Given the description of an element on the screen output the (x, y) to click on. 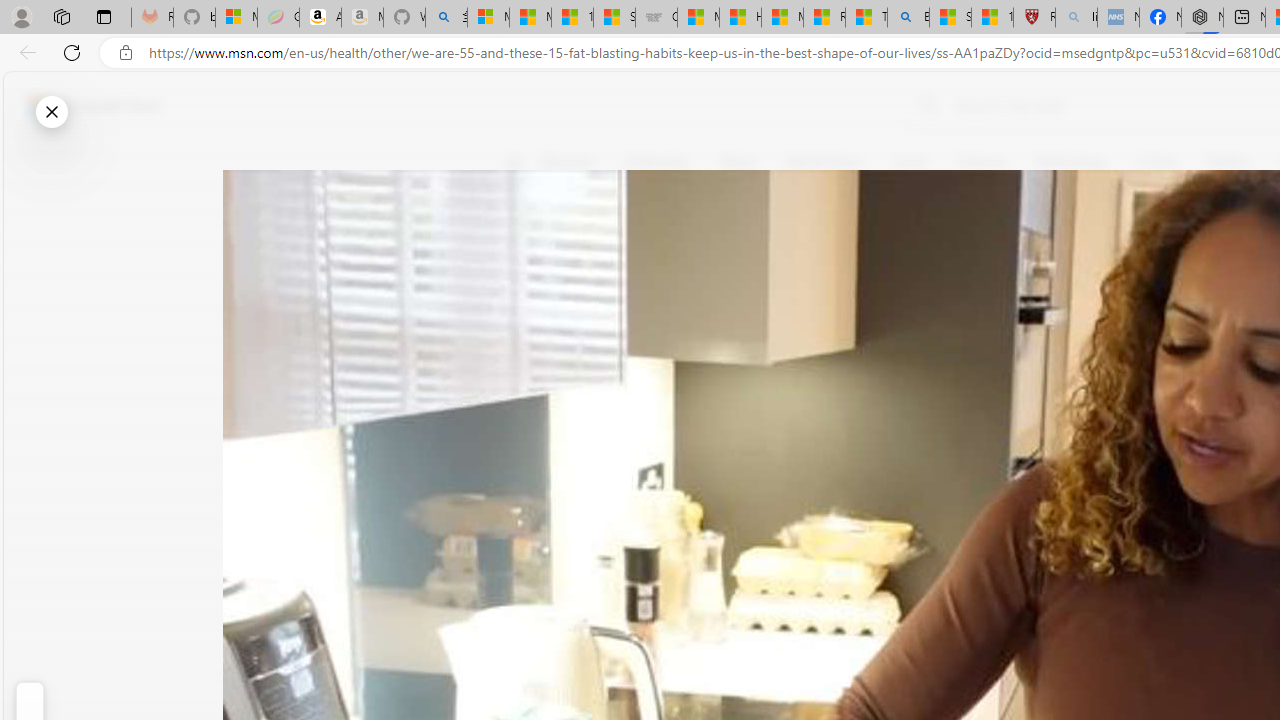
Science (980, 162)
Web search (924, 105)
Share this story (525, 412)
Crime (1156, 162)
Nordace - Nordace Siena Is Not An Ordinary Backpack (1201, 17)
Recipes - MSN (823, 17)
Close (51, 111)
Following (656, 162)
Local (910, 162)
Personal Profile (21, 16)
Class: button-glyph (513, 162)
6 Like (525, 244)
Discover (575, 162)
Microsoft Start (94, 105)
